Given the description of an element on the screen output the (x, y) to click on. 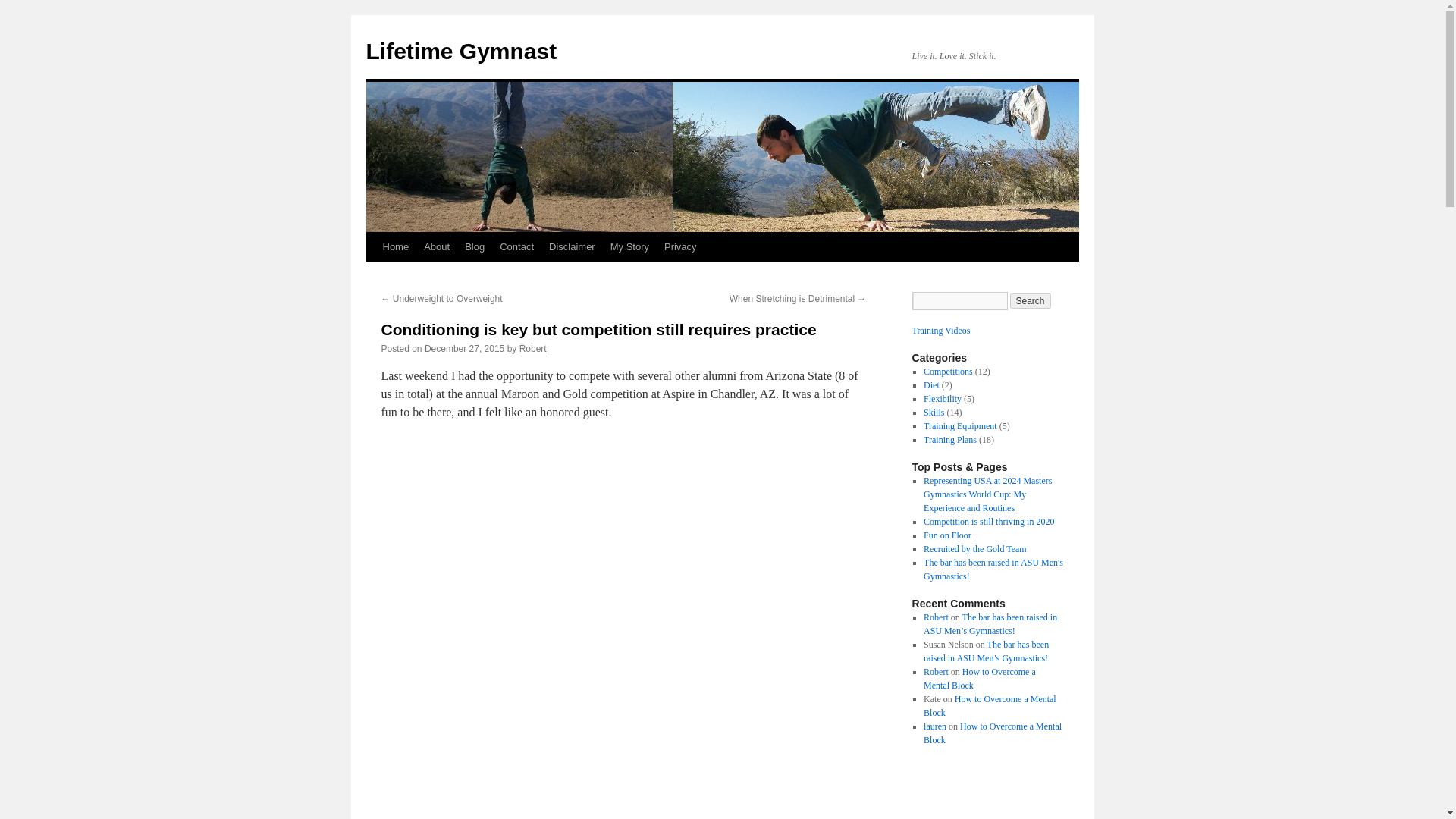
Lifetime Gymnast (460, 50)
Search (1030, 300)
6:40 pm (464, 348)
Blog (474, 246)
Privacy (680, 246)
Home (395, 246)
December 27, 2015 (464, 348)
View all posts by Robert (533, 348)
Disclaimer (571, 246)
About (436, 246)
